Given the description of an element on the screen output the (x, y) to click on. 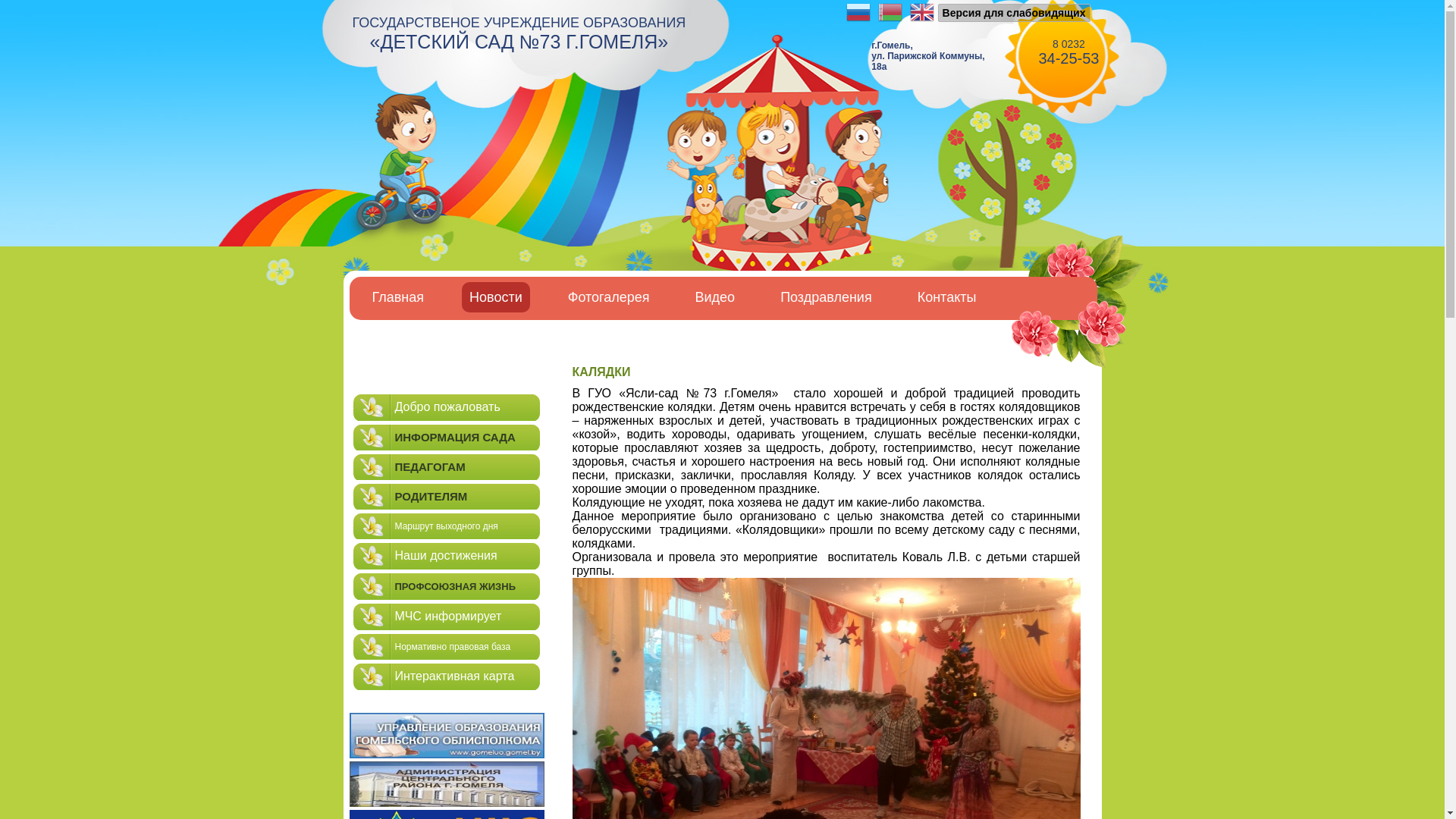
English Element type: hover (922, 12)
Russian Element type: hover (858, 12)
Belarusian Element type: hover (890, 12)
